Given the description of an element on the screen output the (x, y) to click on. 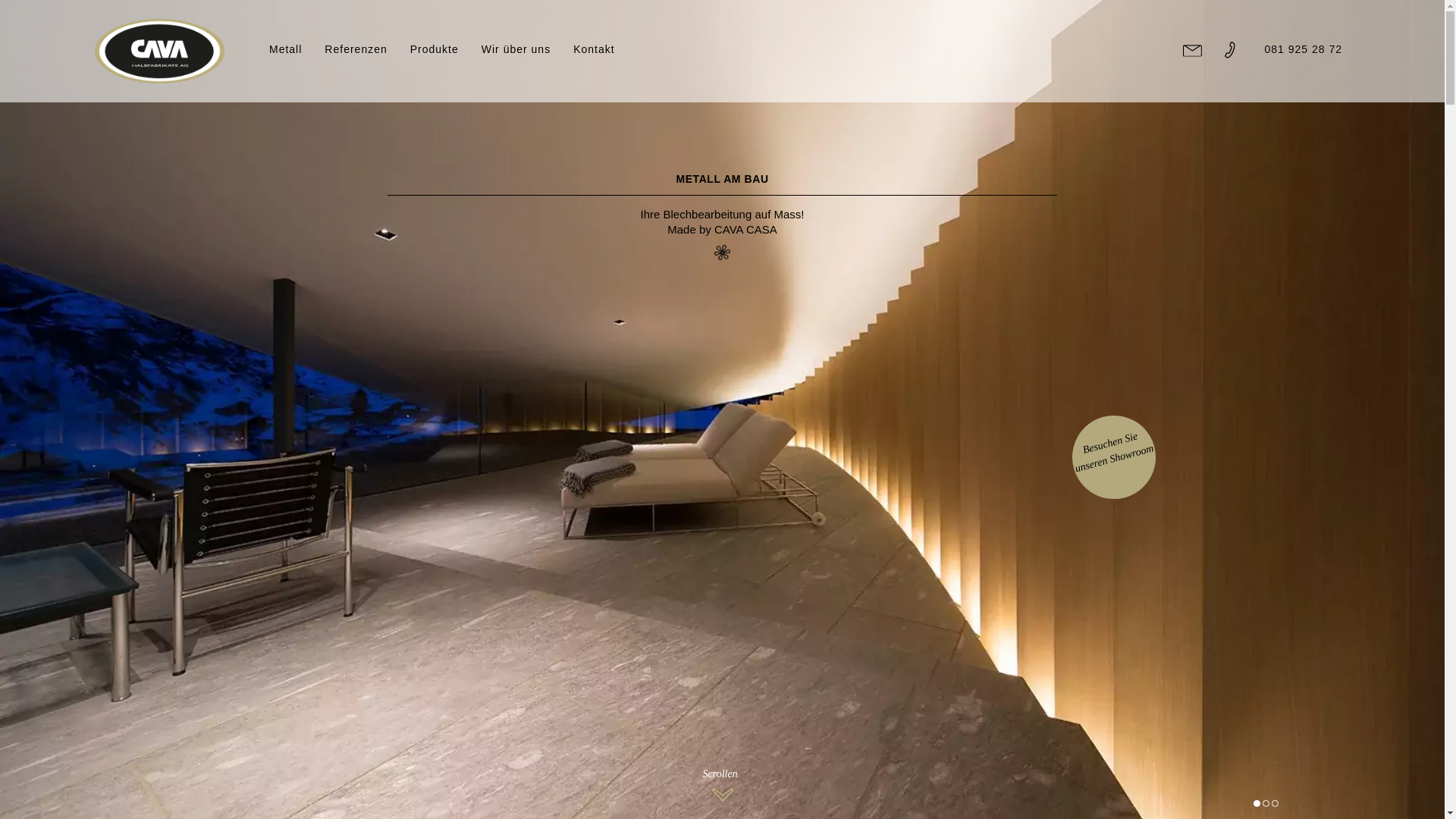
Kontakt Element type: text (593, 48)
Metall Element type: text (285, 48)
081 925 28 72 Element type: text (1302, 48)
Besuchen Sie unseren Showroom Element type: text (1109, 439)
Produkte Element type: text (434, 48)
Referenzen Element type: text (355, 48)
